Given the description of an element on the screen output the (x, y) to click on. 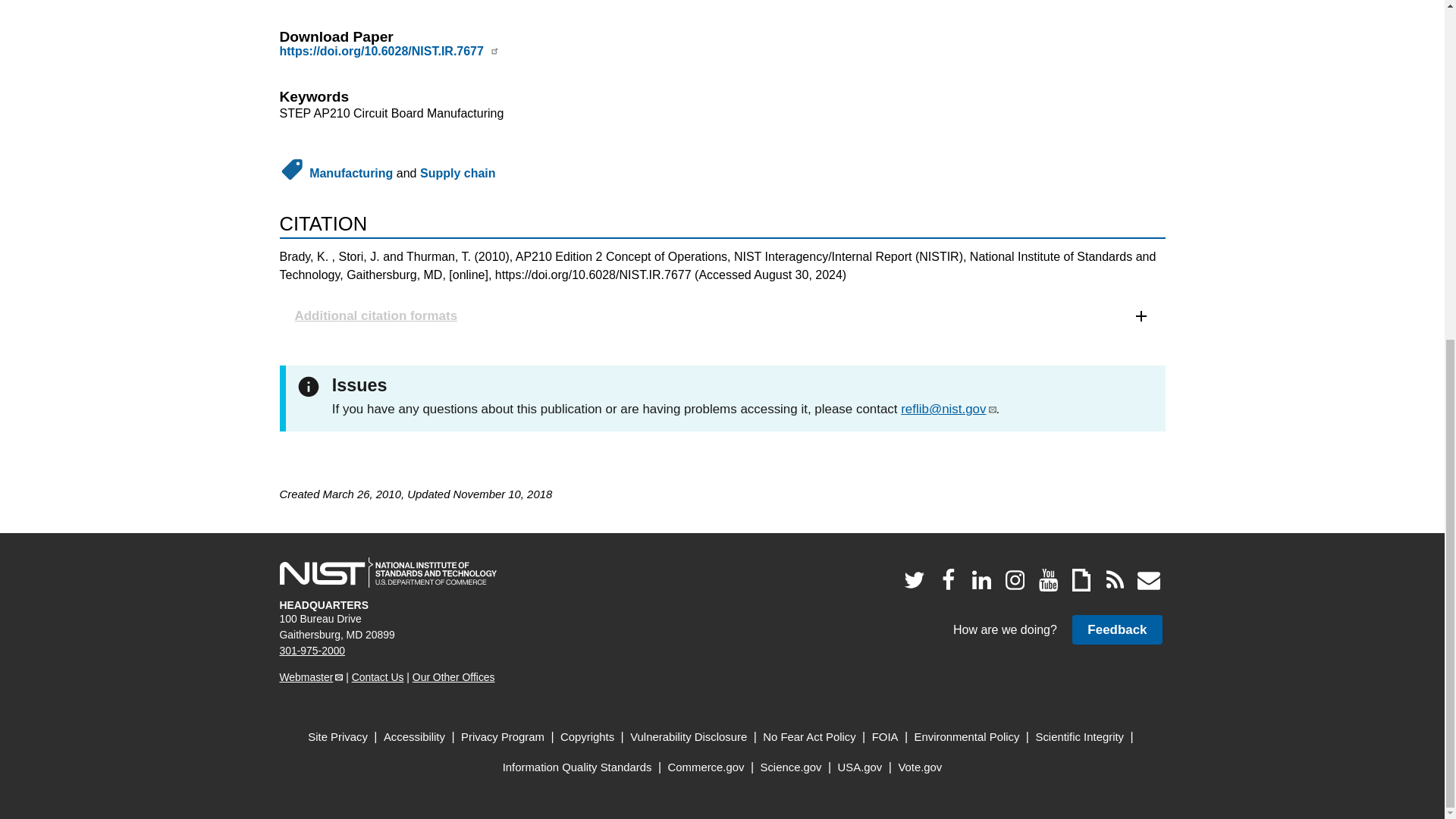
301-975-2000 (312, 650)
No Fear Act Policy (809, 736)
Manufacturing (350, 173)
Provide feedback (1116, 629)
Contact Us (378, 676)
Privacy Program (502, 736)
Additional citation formats (721, 315)
Webmaster (310, 676)
Site Privacy (337, 736)
National Institute of Standards and Technology (387, 572)
